Given the description of an element on the screen output the (x, y) to click on. 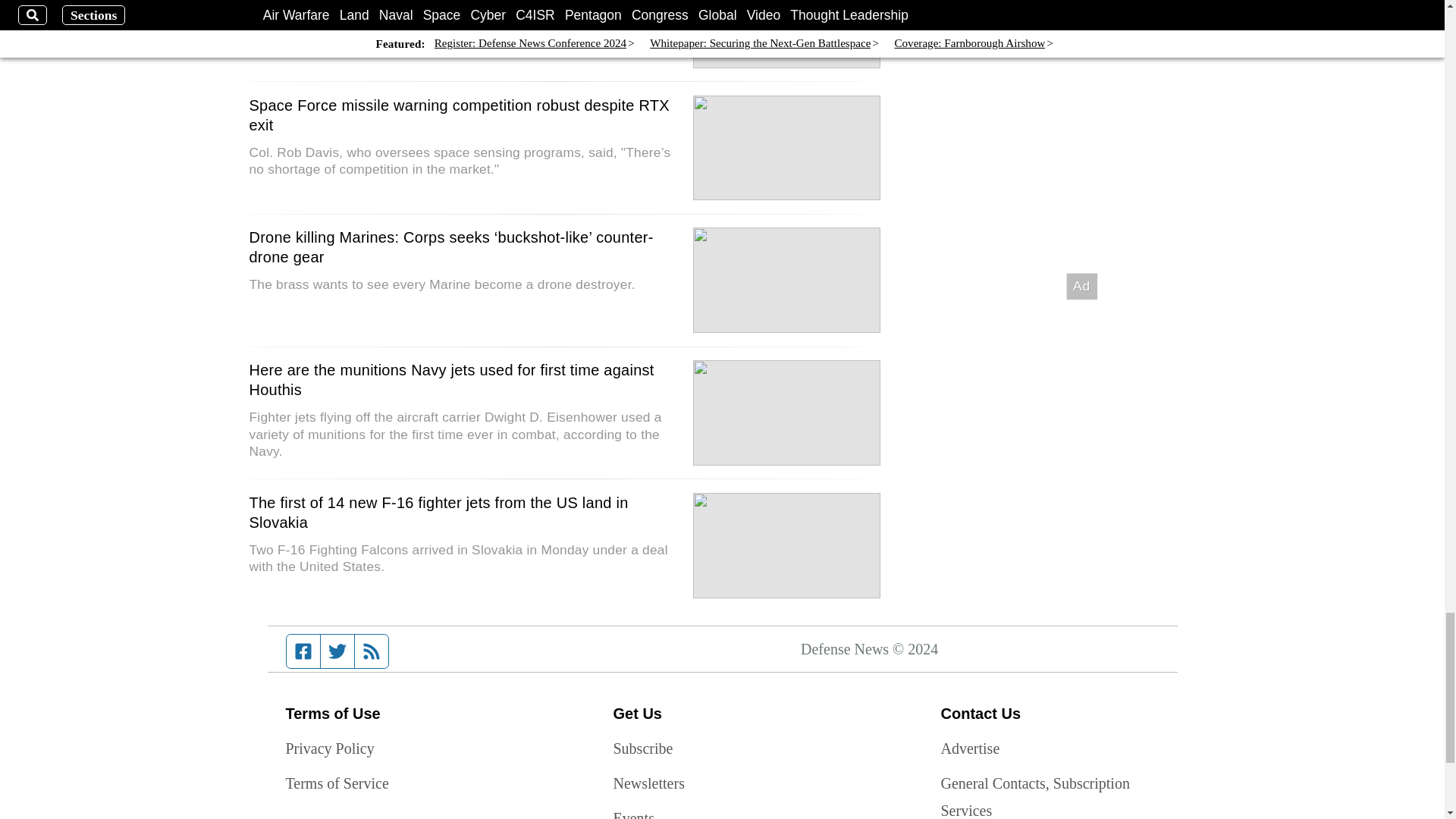
RSS feed (371, 651)
Facebook page (303, 651)
Twitter feed (336, 651)
